Given the description of an element on the screen output the (x, y) to click on. 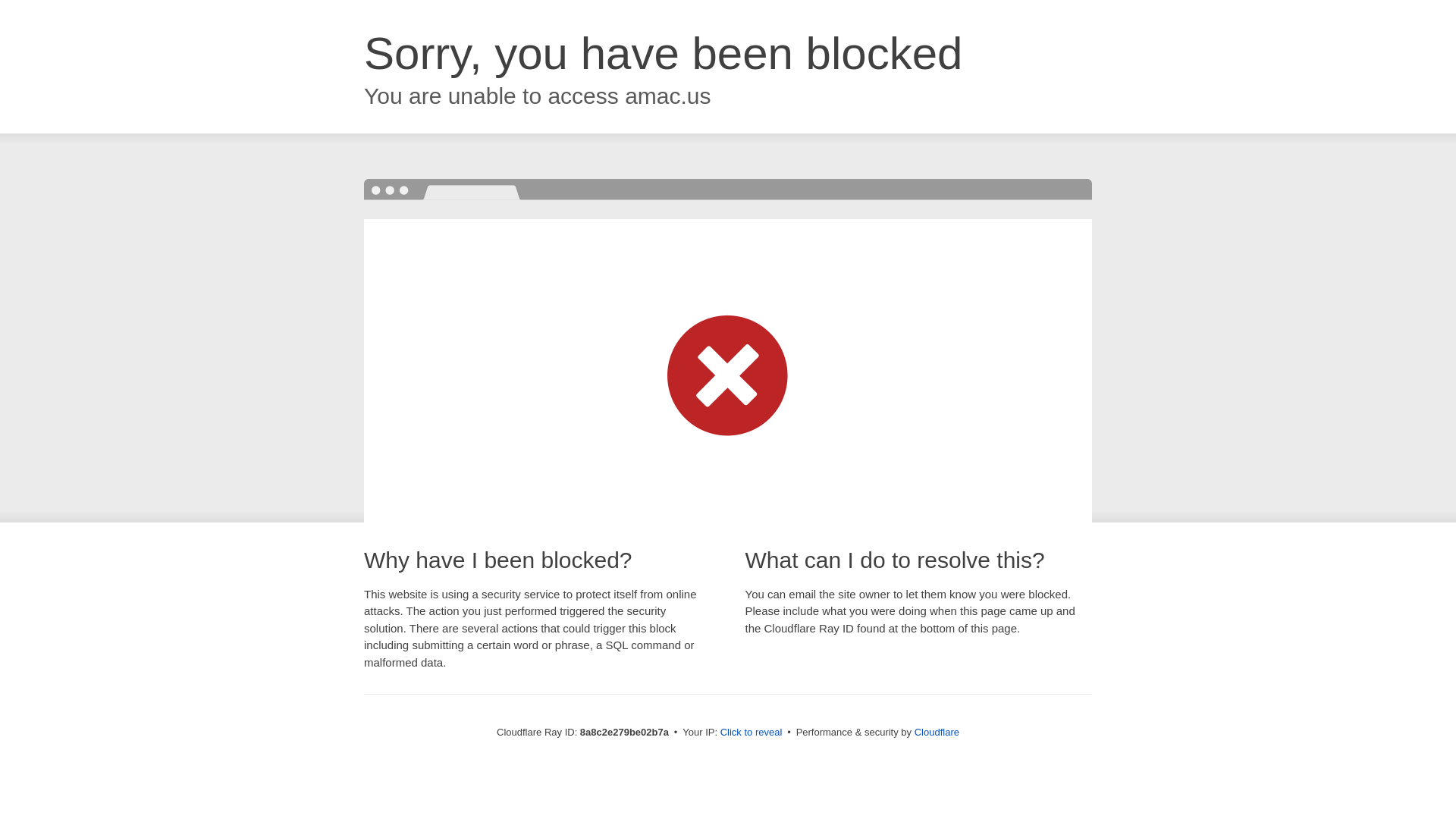
Cloudflare (936, 731)
Click to reveal (751, 732)
